Given the description of an element on the screen output the (x, y) to click on. 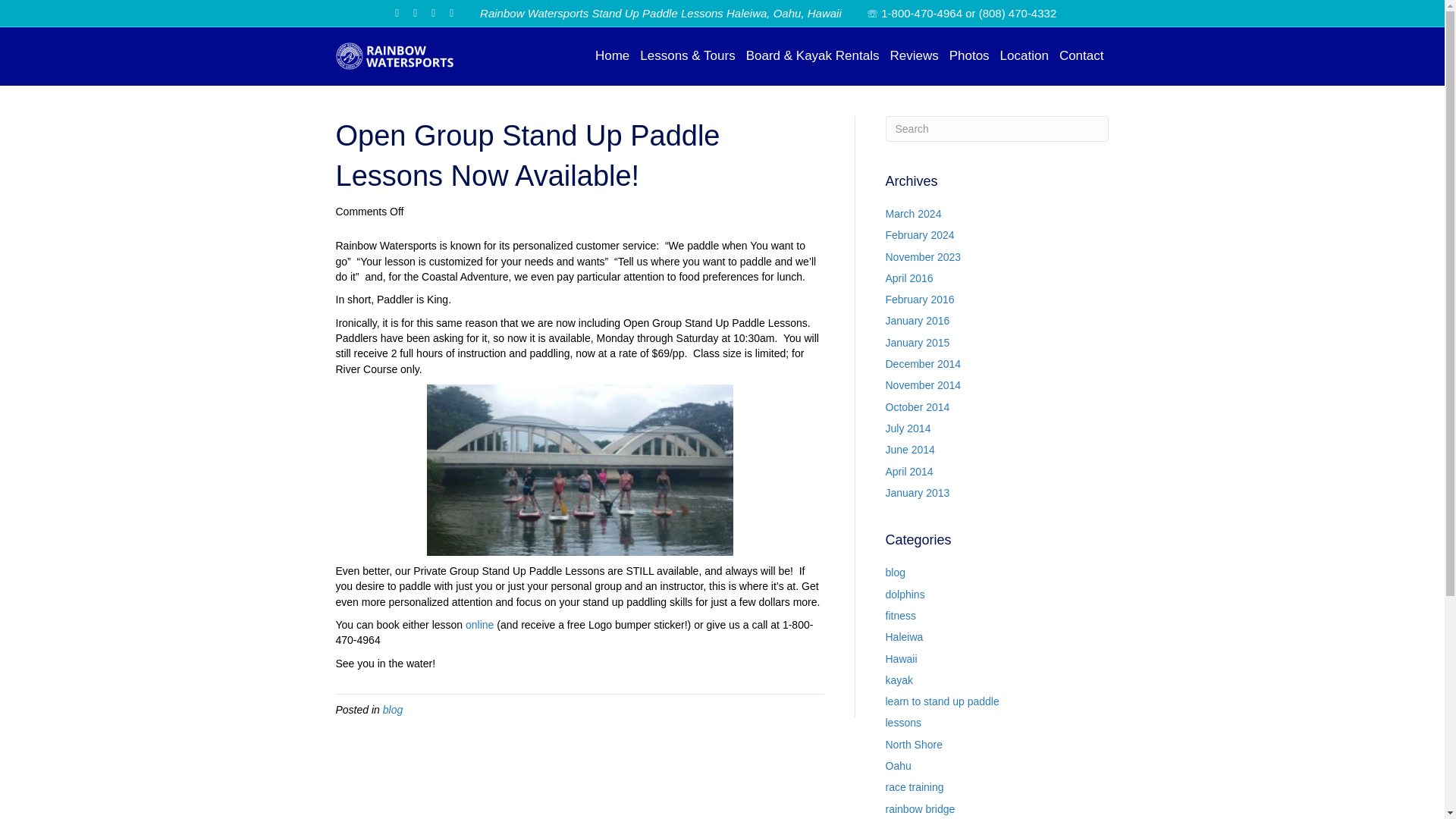
Contact (1081, 56)
February 2016 (920, 299)
Type and press Enter to search. (997, 128)
November 2014 (922, 385)
Yelp (415, 12)
Reviews (913, 56)
January 2015 (917, 342)
Facebook (397, 12)
February 2024 (920, 234)
Instagram (433, 12)
